Given the description of an element on the screen output the (x, y) to click on. 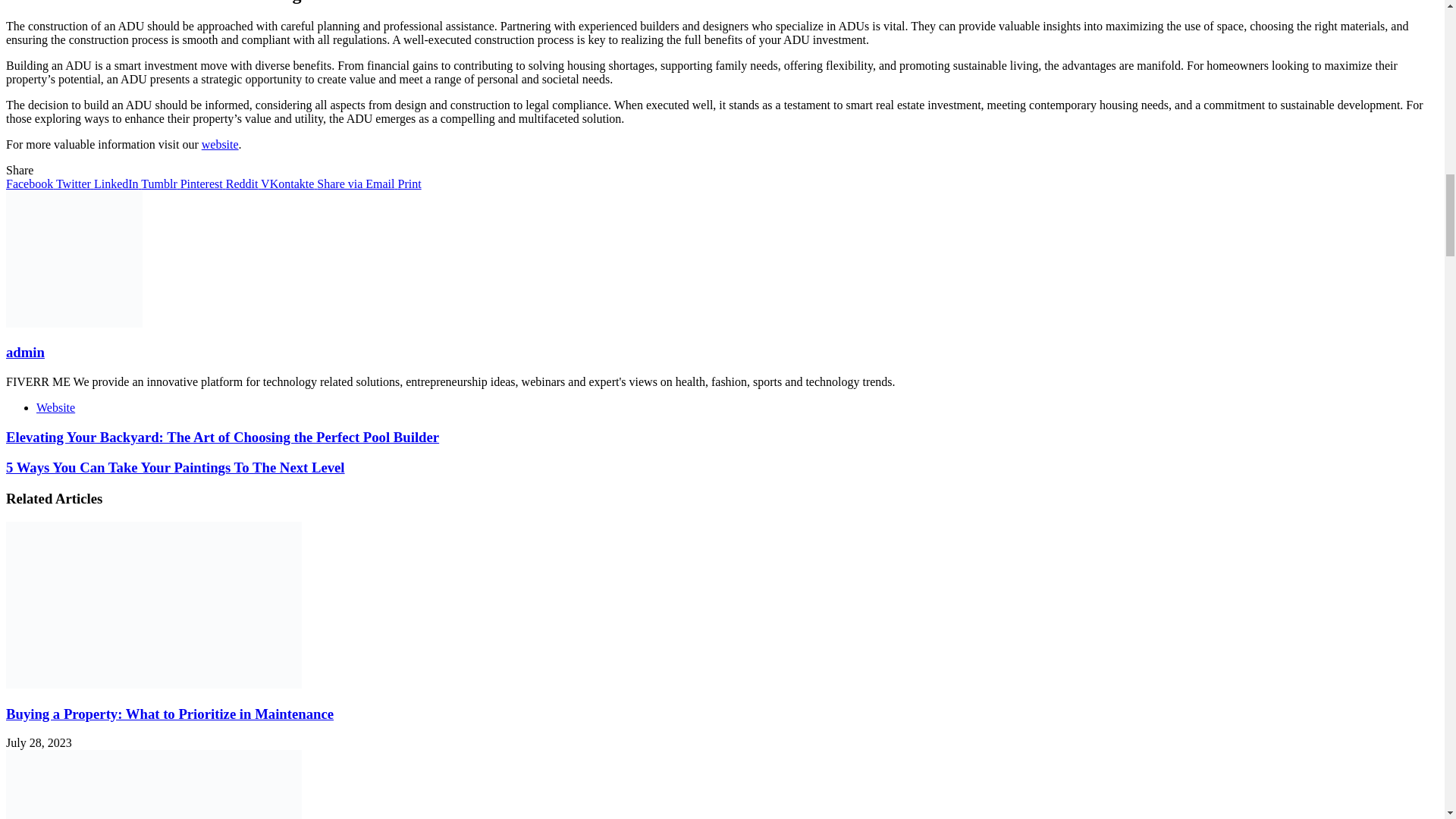
Twitter (71, 183)
website (220, 144)
Facebook (28, 183)
